Given the description of an element on the screen output the (x, y) to click on. 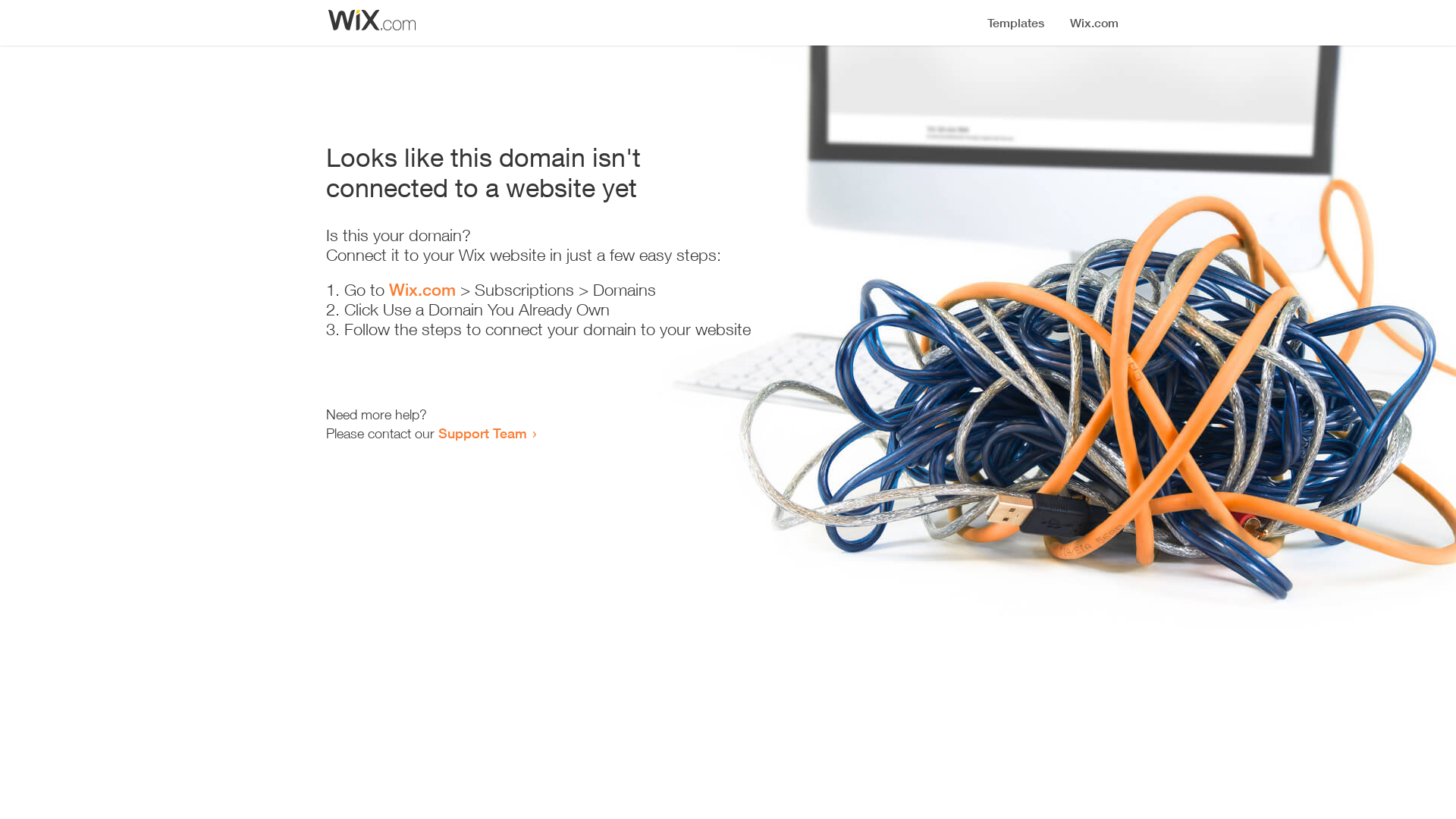
Support Team Element type: text (482, 432)
Wix.com Element type: text (422, 289)
